Given the description of an element on the screen output the (x, y) to click on. 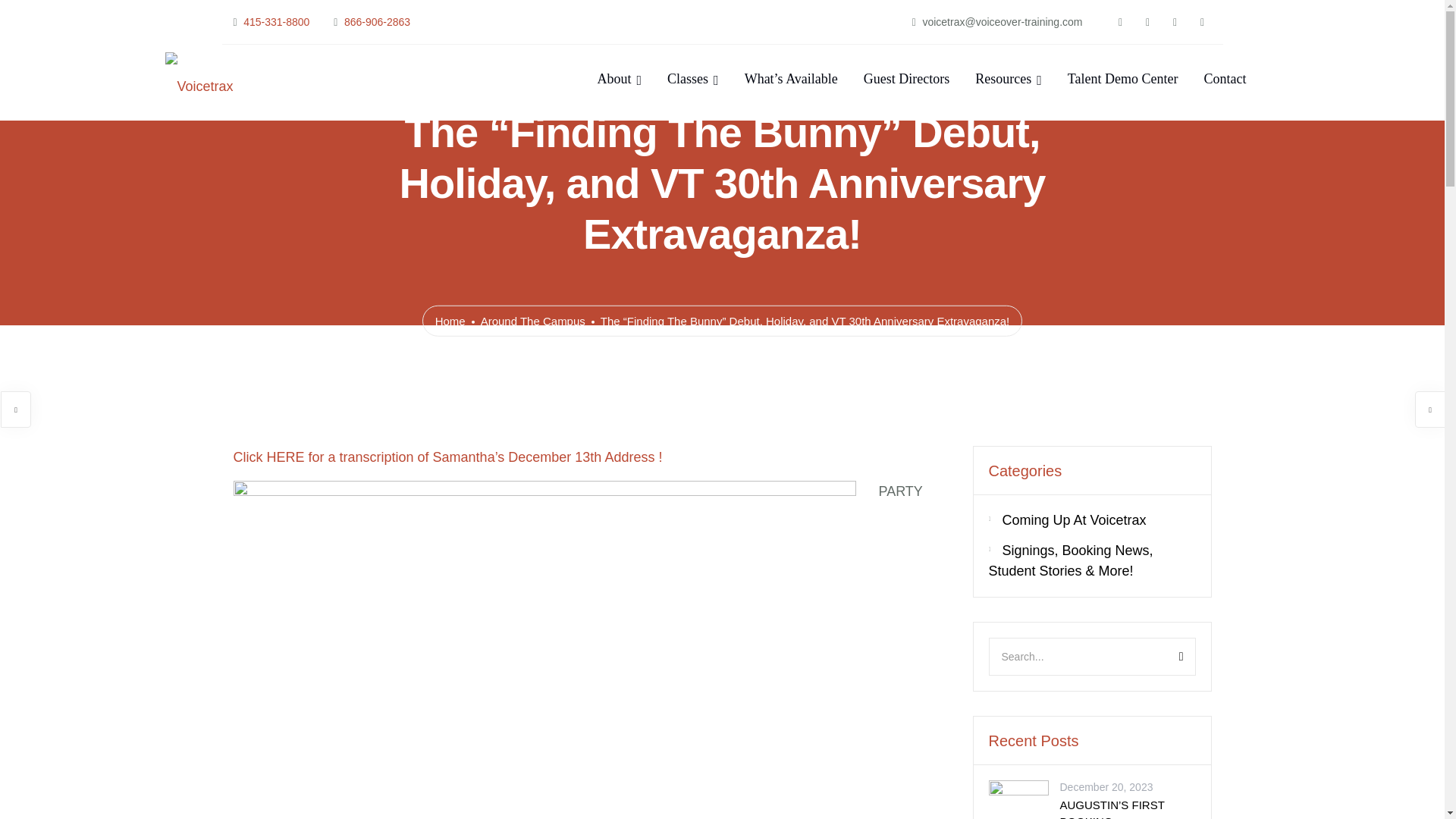
415-331-8800 (275, 21)
866-906-2863 (376, 21)
Search (1163, 656)
